Given the description of an element on the screen output the (x, y) to click on. 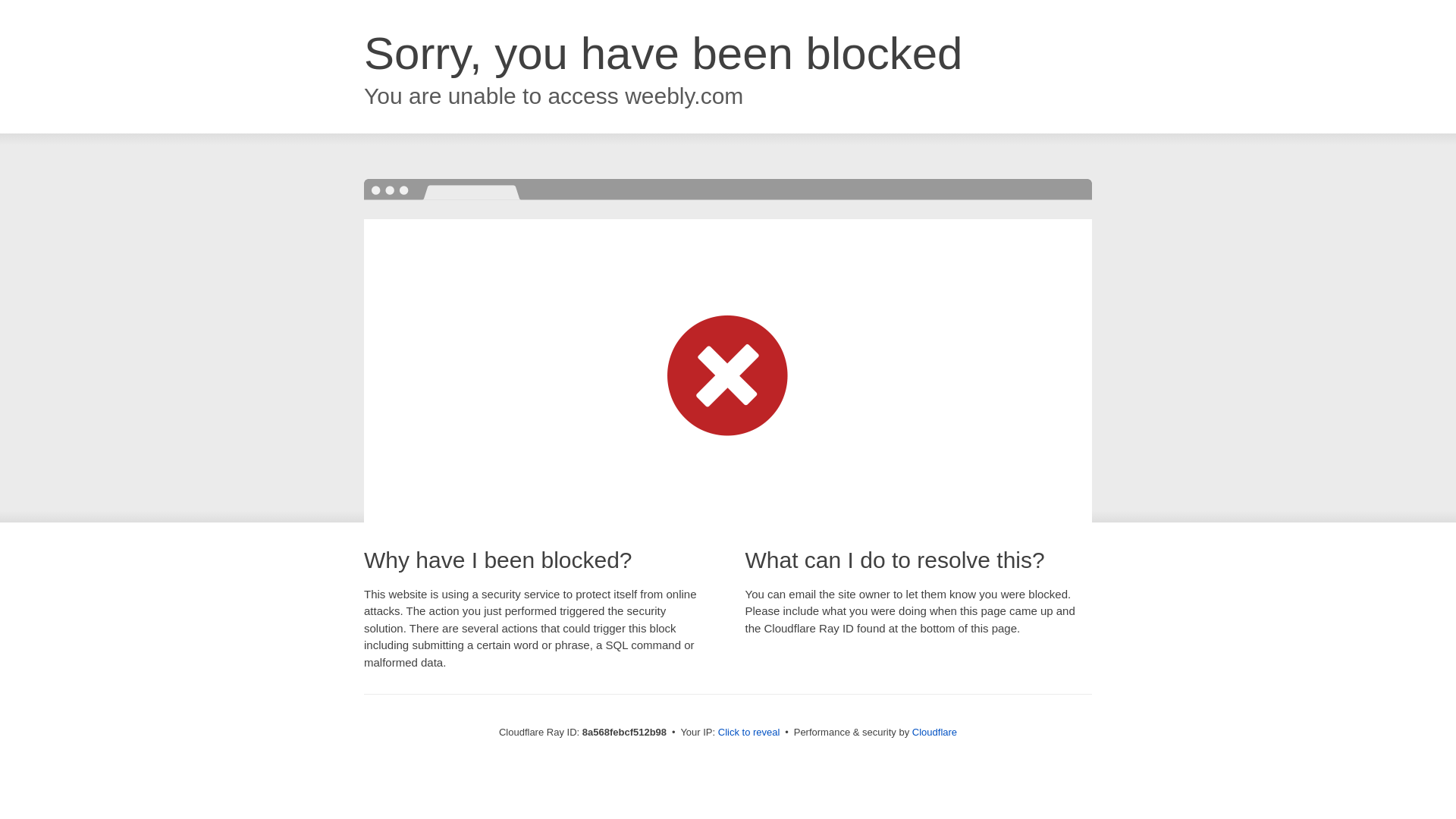
Cloudflare (934, 731)
Click to reveal (748, 732)
